Given the description of an element on the screen output the (x, y) to click on. 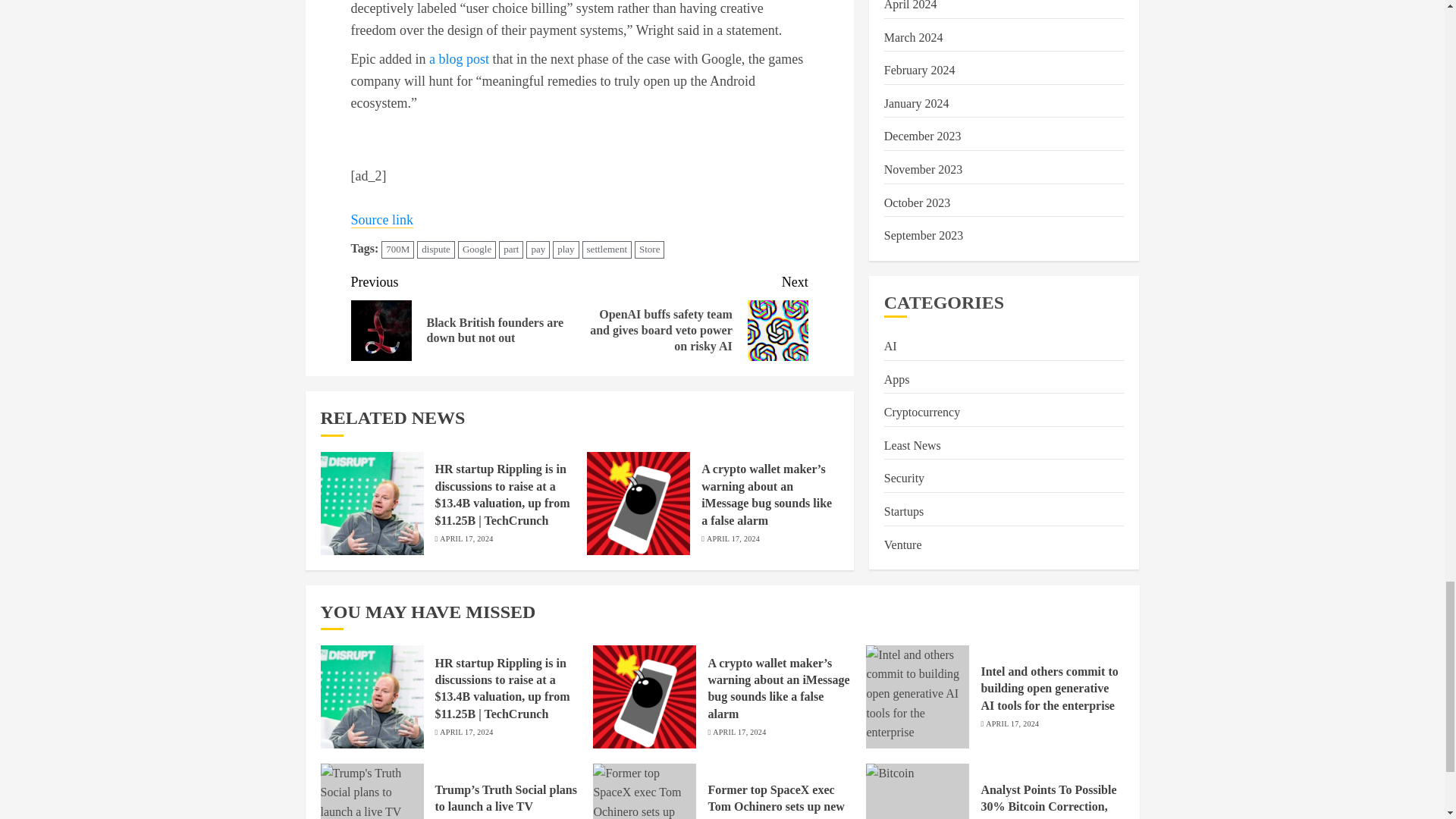
a blog post (459, 58)
